Given the description of an element on the screen output the (x, y) to click on. 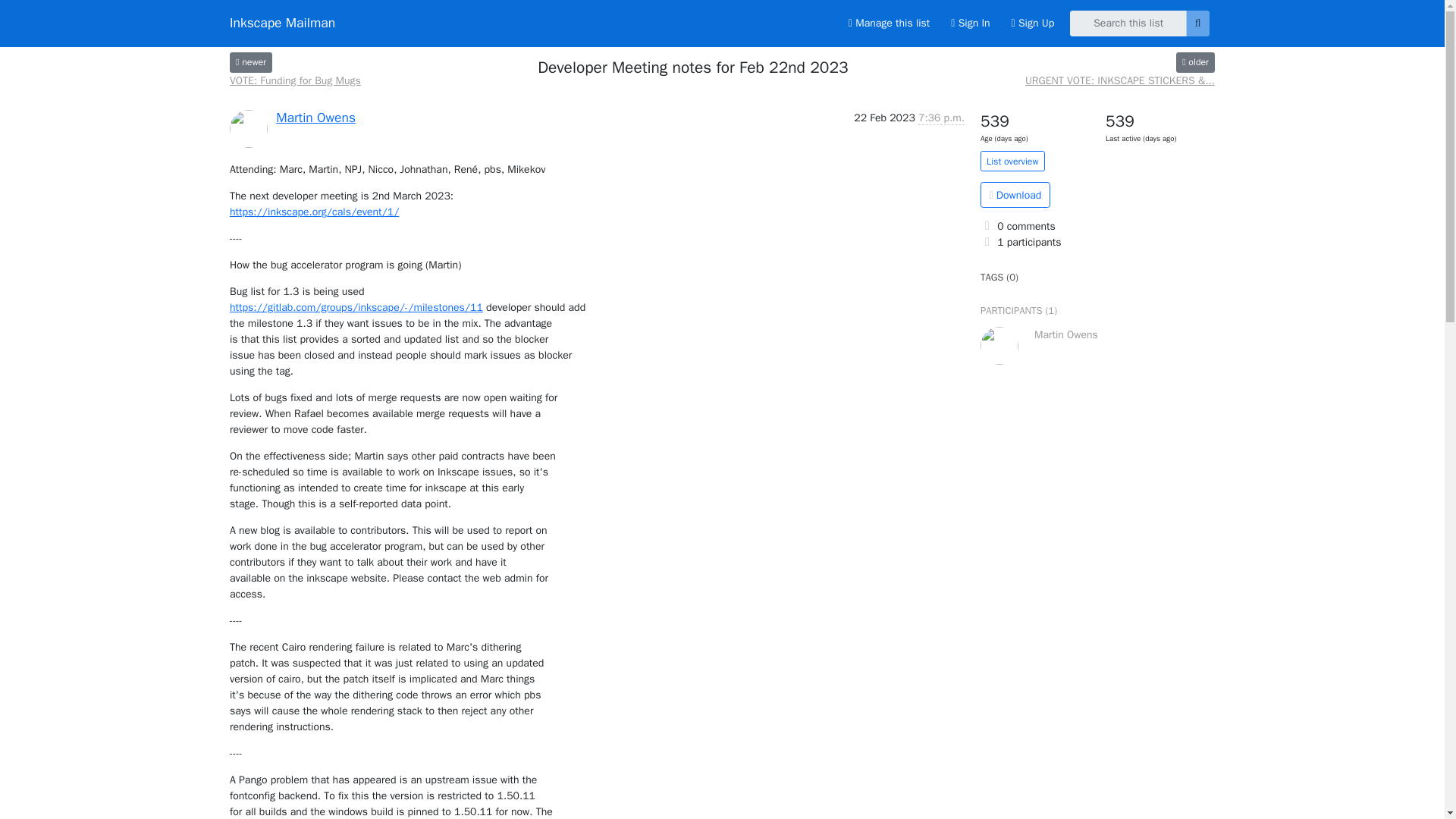
Sign Up (1033, 22)
Manage this list (889, 22)
Inkscape Mailman (282, 23)
Sender's time: Feb. 22, 2023, 2:36 p.m. (940, 118)
VOTE: Funding for Bug Mugs (295, 80)
newer (251, 61)
See the profile for Martin Owens (315, 117)
older (1195, 61)
List overview (1012, 160)
VOTE: Funding for Bug Mugs (251, 61)
